Given the description of an element on the screen output the (x, y) to click on. 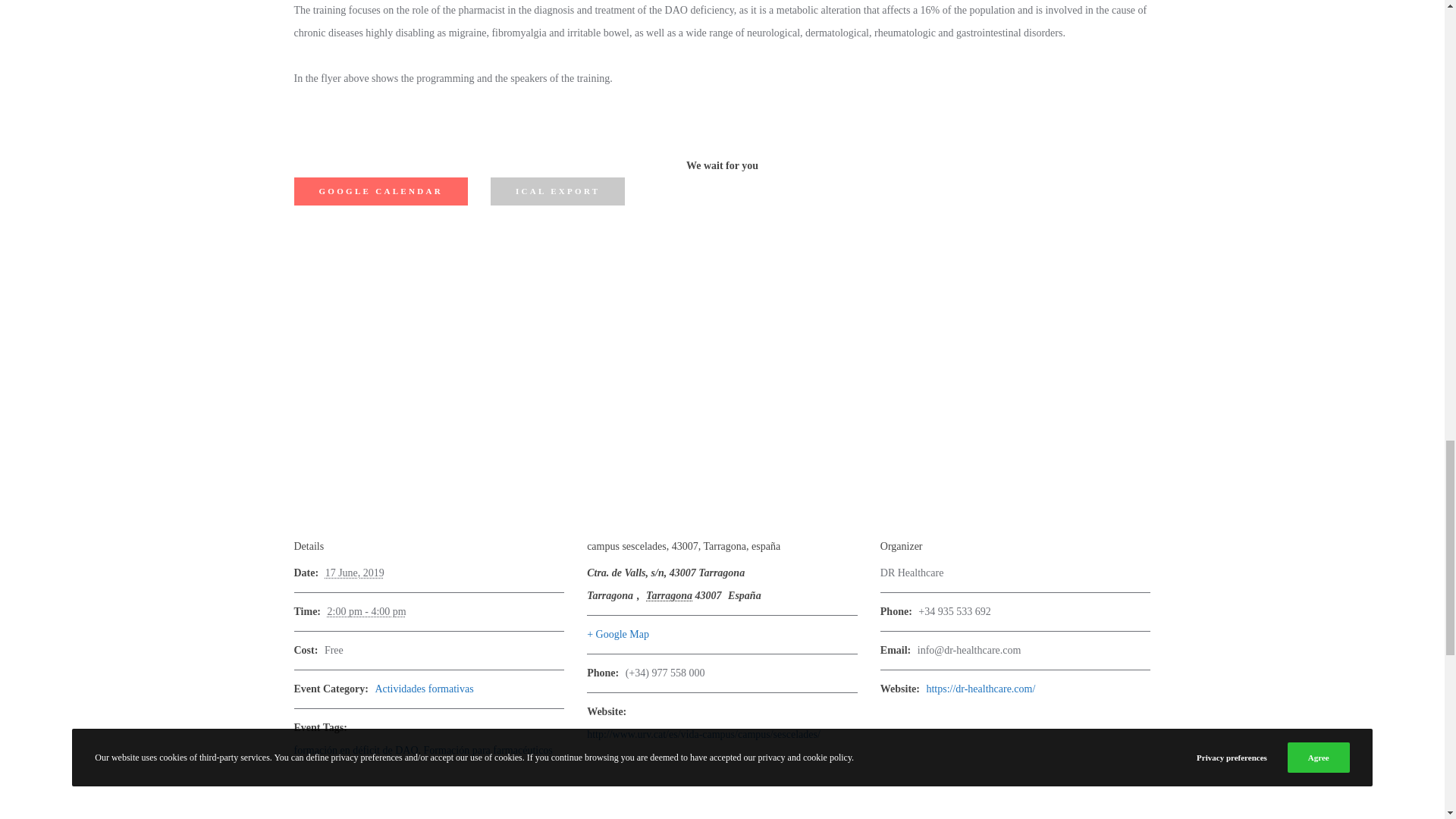
2019-06-17 (366, 611)
Download .ics file (557, 191)
Tarragona (669, 595)
Click to view a Google Map (617, 633)
2019-06-17 (354, 572)
Add to Google Calendar (381, 191)
